Given the description of an element on the screen output the (x, y) to click on. 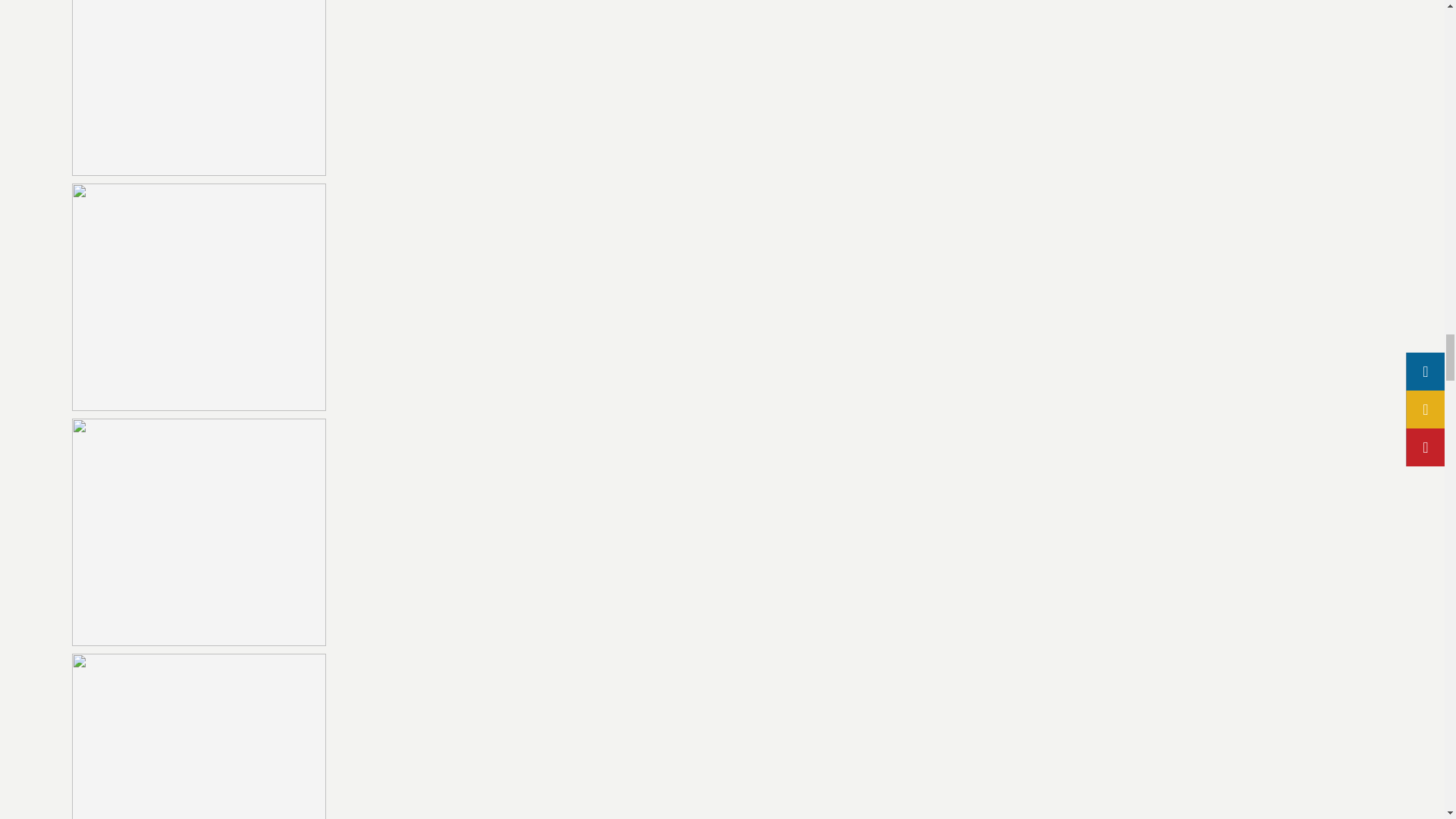
IMG-4234 (198, 532)
IMG-4233 (198, 297)
IMG-4232 (198, 88)
IMG-4235 (198, 736)
